Given the description of an element on the screen output the (x, y) to click on. 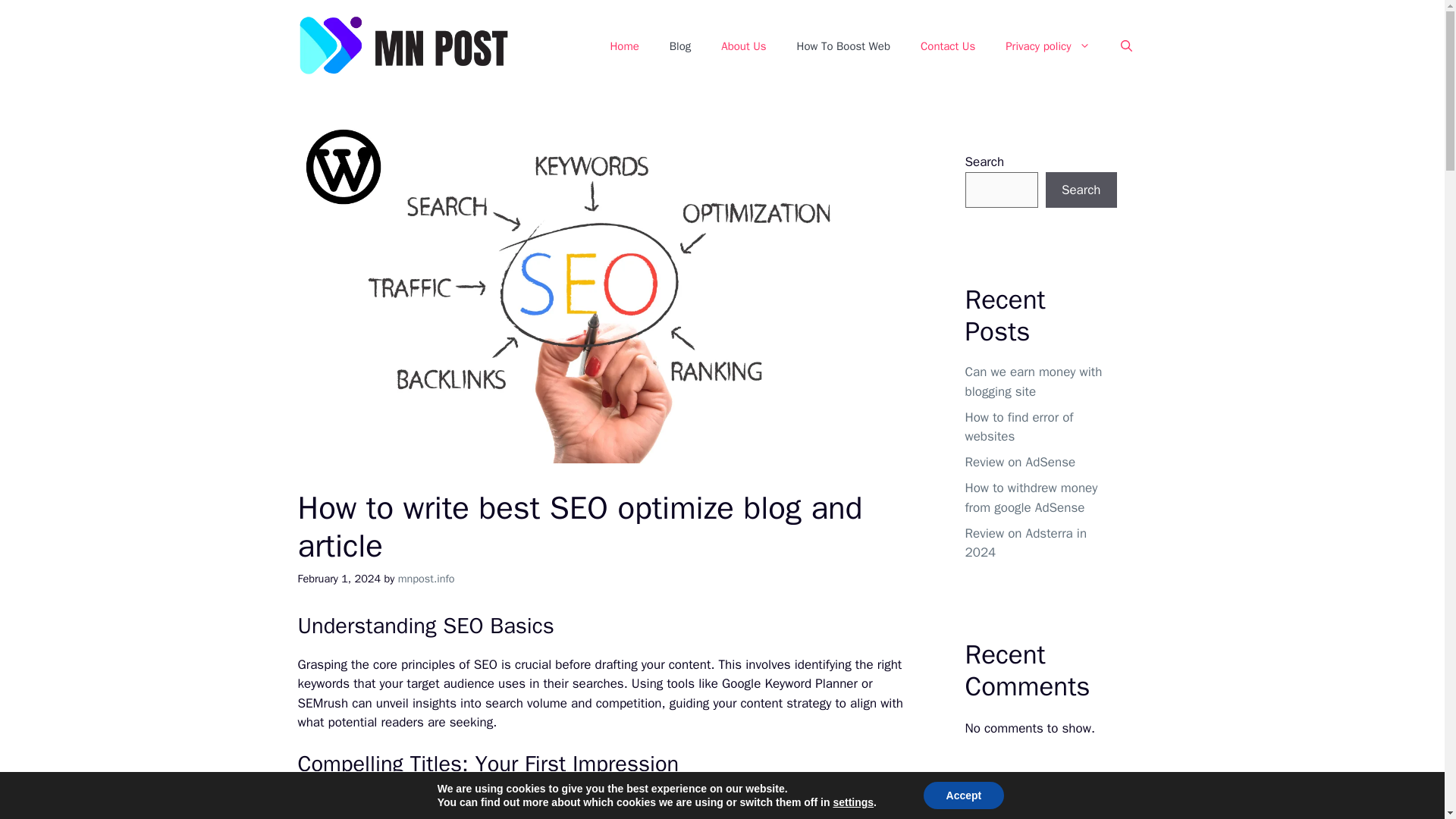
About Us (743, 45)
Review on Adsterra in 2024 (1024, 543)
Review on AdSense (1019, 462)
Home (623, 45)
settings (852, 802)
Accept (963, 795)
How to withdrew money from google AdSense (1030, 497)
mnpost.info (425, 578)
How To Boost Web (843, 45)
Search (1080, 189)
View all posts by mnpost.info (425, 578)
Can we earn money with blogging site (1032, 381)
audience uses i (485, 683)
Contact Us (947, 45)
How to find error of websites (1018, 427)
